Given the description of an element on the screen output the (x, y) to click on. 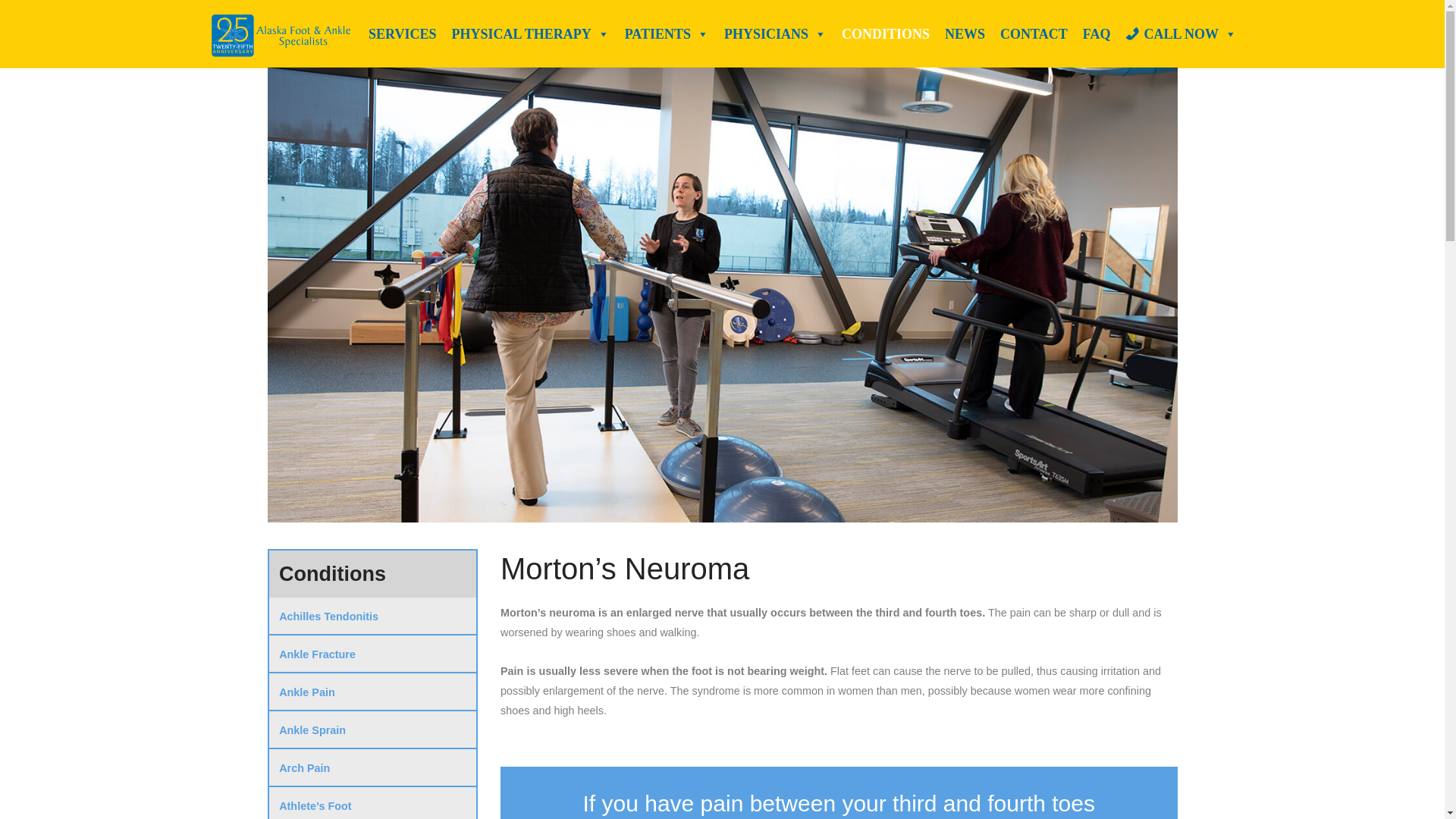
Ankle Sprain (371, 730)
PHYSICAL THERAPY (529, 33)
Ankle Fracture (371, 654)
Achilles Tendonitis (371, 616)
Arch Pain (371, 768)
PHYSICIANS (775, 33)
CALL NOW (1181, 33)
SERVICES (402, 33)
CONDITIONS (885, 33)
Ankle Pain (371, 692)
